Given the description of an element on the screen output the (x, y) to click on. 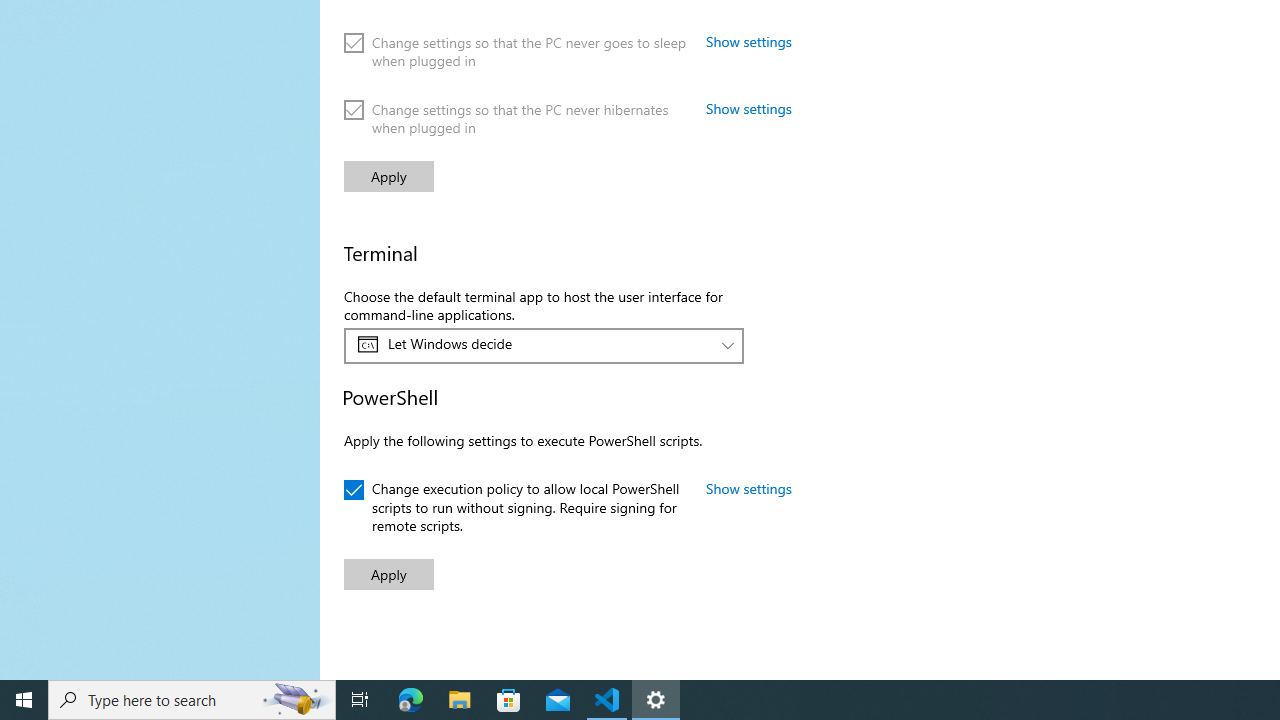
Microsoft Edge (411, 699)
Type here to search (191, 699)
Let Windows decide (533, 344)
